Given the description of an element on the screen output the (x, y) to click on. 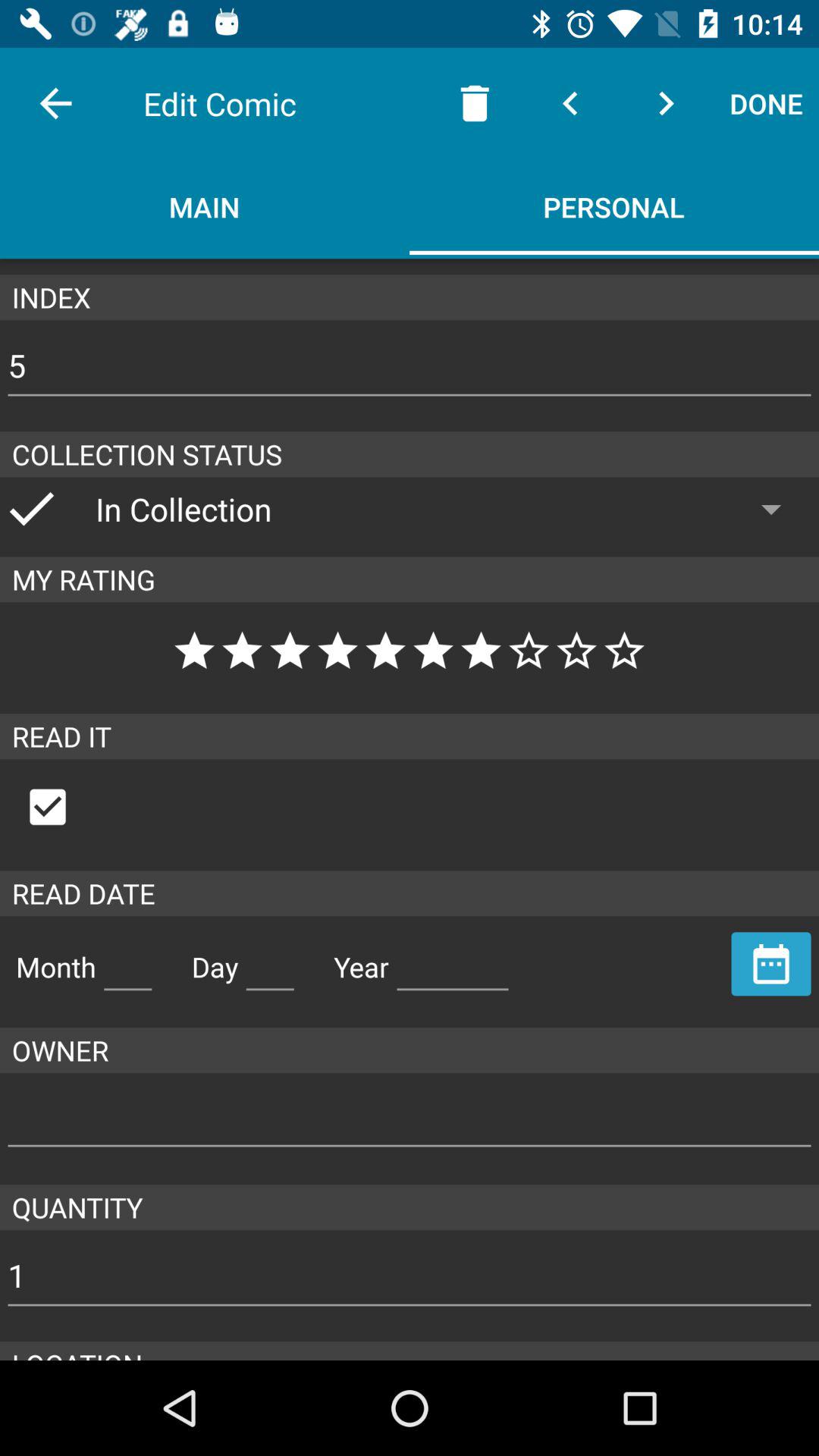
read it checkbox (63, 806)
